Given the description of an element on the screen output the (x, y) to click on. 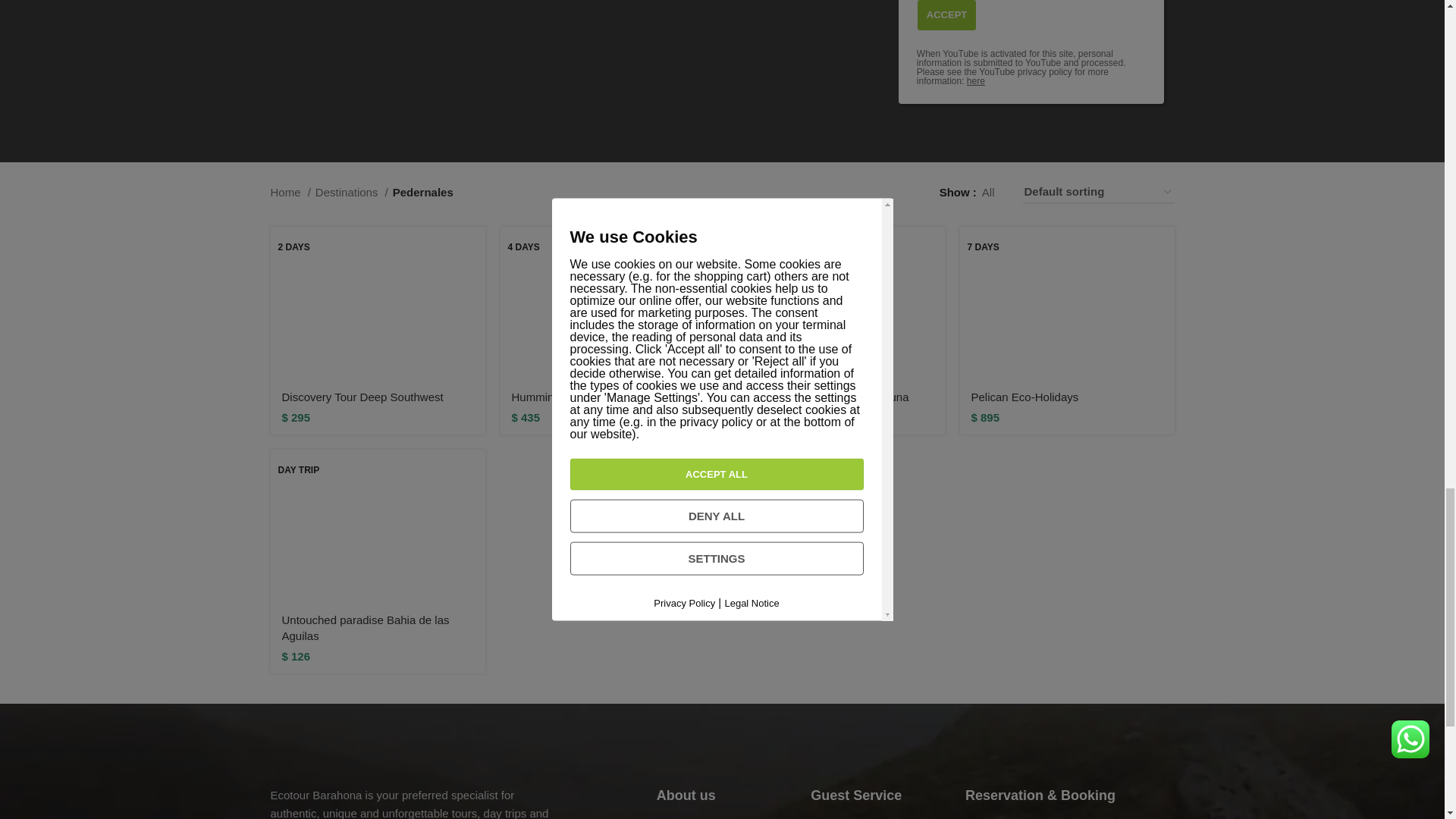
ACCEPT (946, 15)
Destinations (351, 192)
2 DAYS (376, 303)
All (988, 192)
here (975, 81)
Home (289, 192)
Discovery Tour Deep Southwest (363, 396)
